Given the description of an element on the screen output the (x, y) to click on. 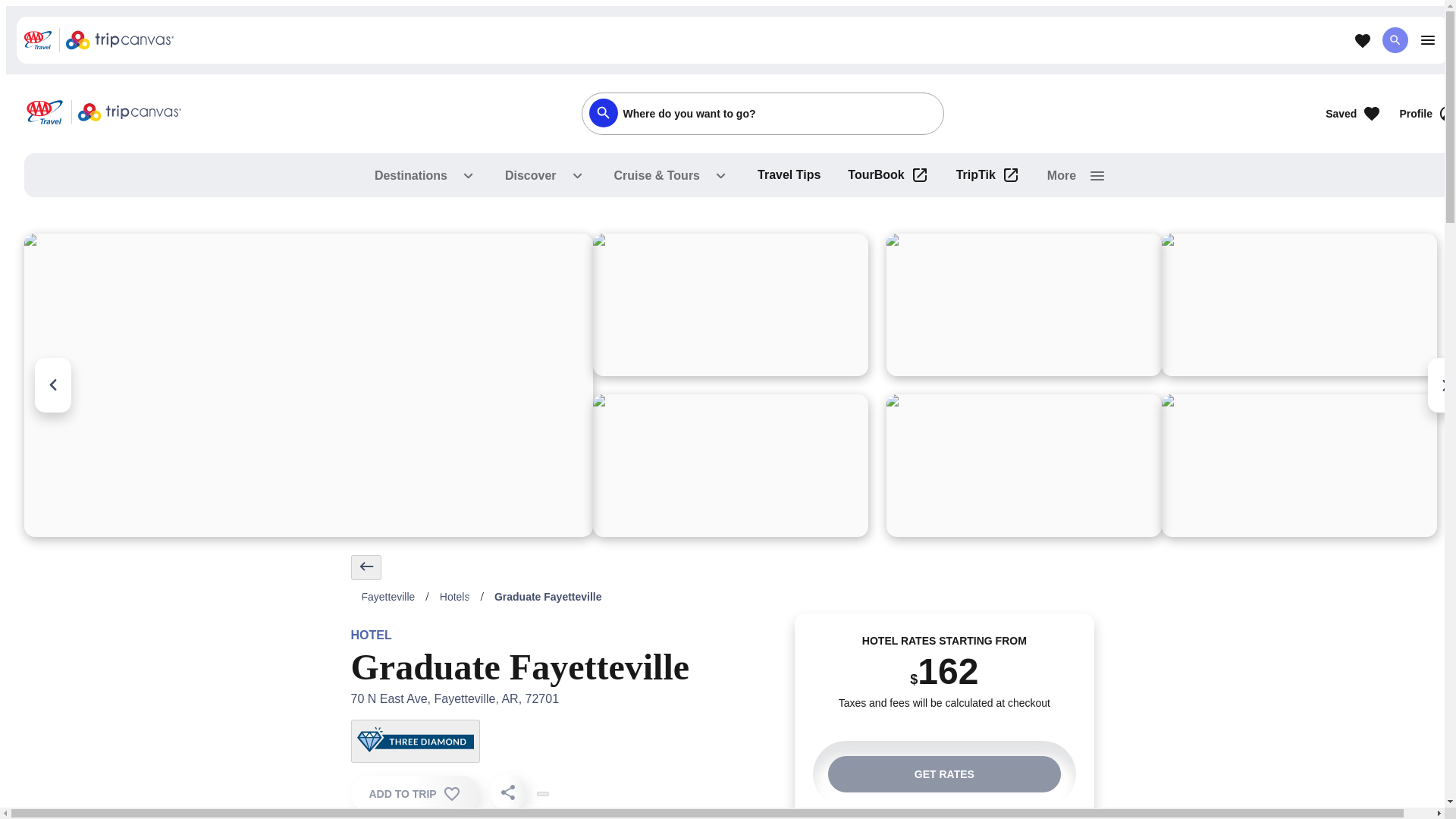
ui-search (602, 112)
SEARCH (1394, 40)
Fayetteville (387, 596)
ui-arrow-long--left (365, 566)
Hotels (454, 596)
Graduate Fayetteville (547, 596)
